Given the description of an element on the screen output the (x, y) to click on. 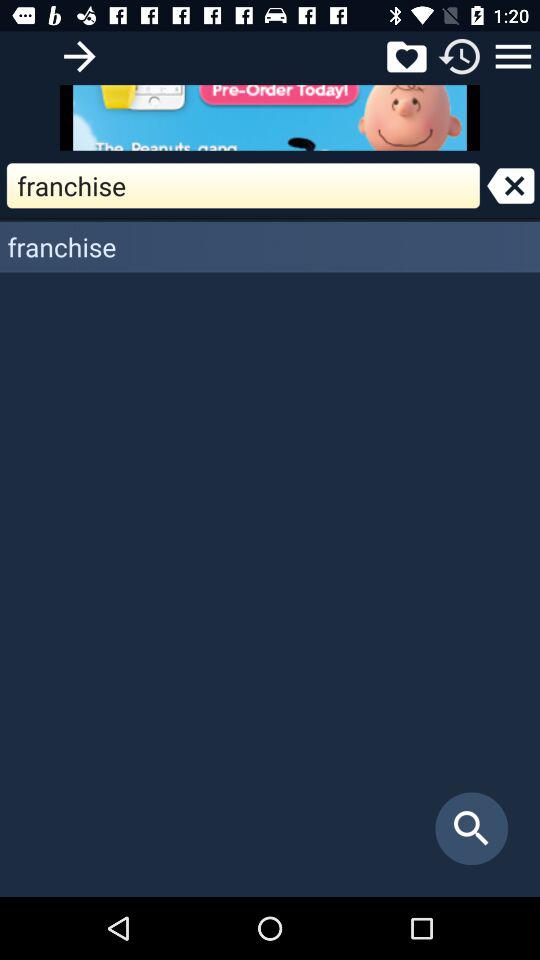
open options (513, 56)
